Given the description of an element on the screen output the (x, y) to click on. 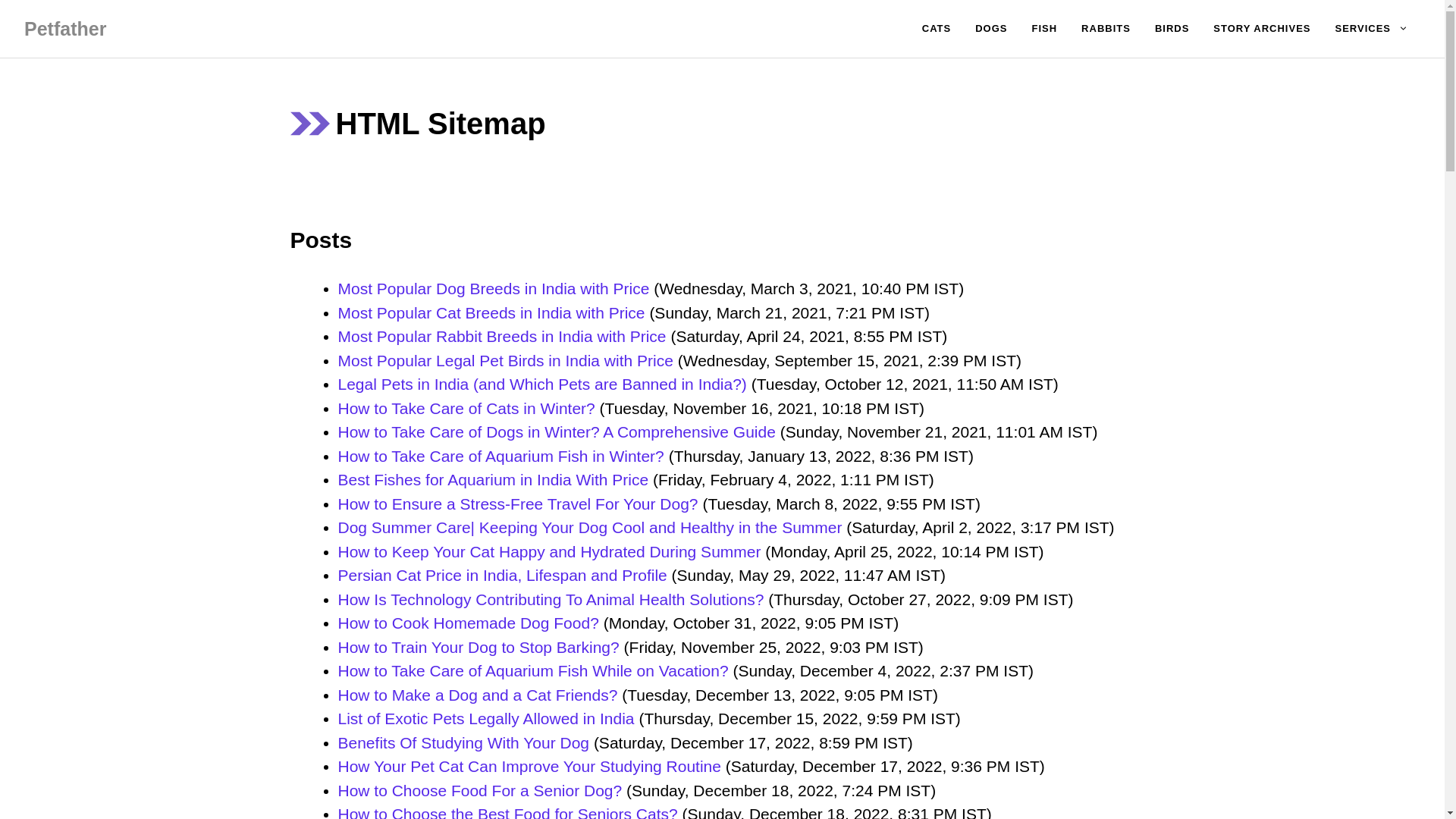
STORY ARCHIVES (1261, 28)
How Is Technology Contributing To Animal Health Solutions? (550, 598)
How to Train Your Dog to Stop Barking? (478, 647)
How to Take Care of Aquarium Fish While on Vacation? (533, 670)
List of Exotic Pets Legally Allowed in India (485, 718)
SERVICES (1371, 28)
How to Take Care of Dogs in Winter? A Comprehensive Guide (556, 431)
How to Choose Food For a Senior Dog? (480, 789)
How to Keep Your Cat Happy and Hydrated During Summer (549, 551)
BIRDS (1171, 28)
